Given the description of an element on the screen output the (x, y) to click on. 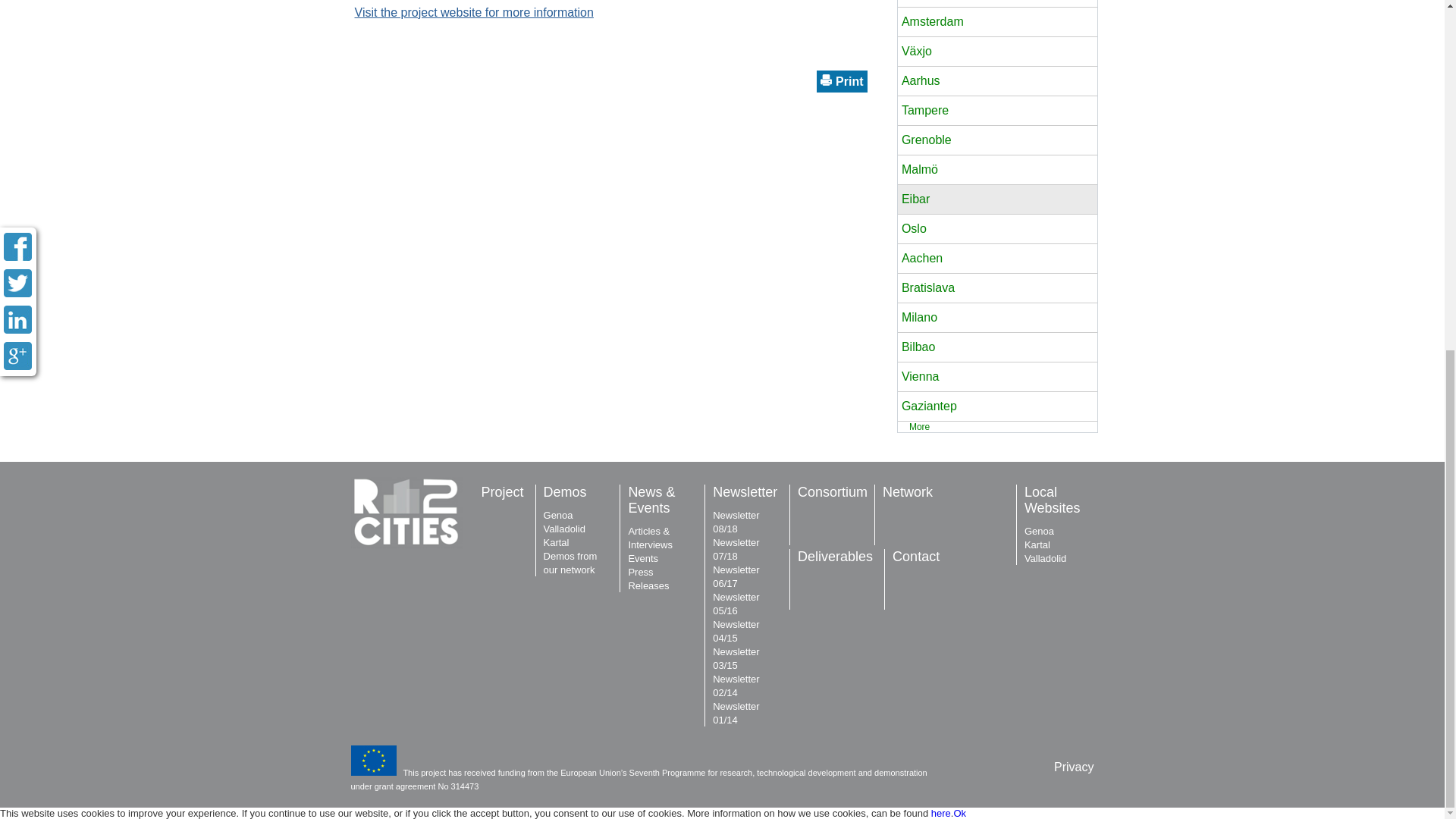
Aarhus (997, 80)
Bilbao (997, 346)
Tampere (997, 110)
Bratislava (997, 287)
Milano (997, 317)
Amsterdam (997, 21)
Grenoble (997, 140)
Oslo (997, 228)
Eibar (997, 199)
Aachen (997, 258)
Vienna (997, 377)
